Given the description of an element on the screen output the (x, y) to click on. 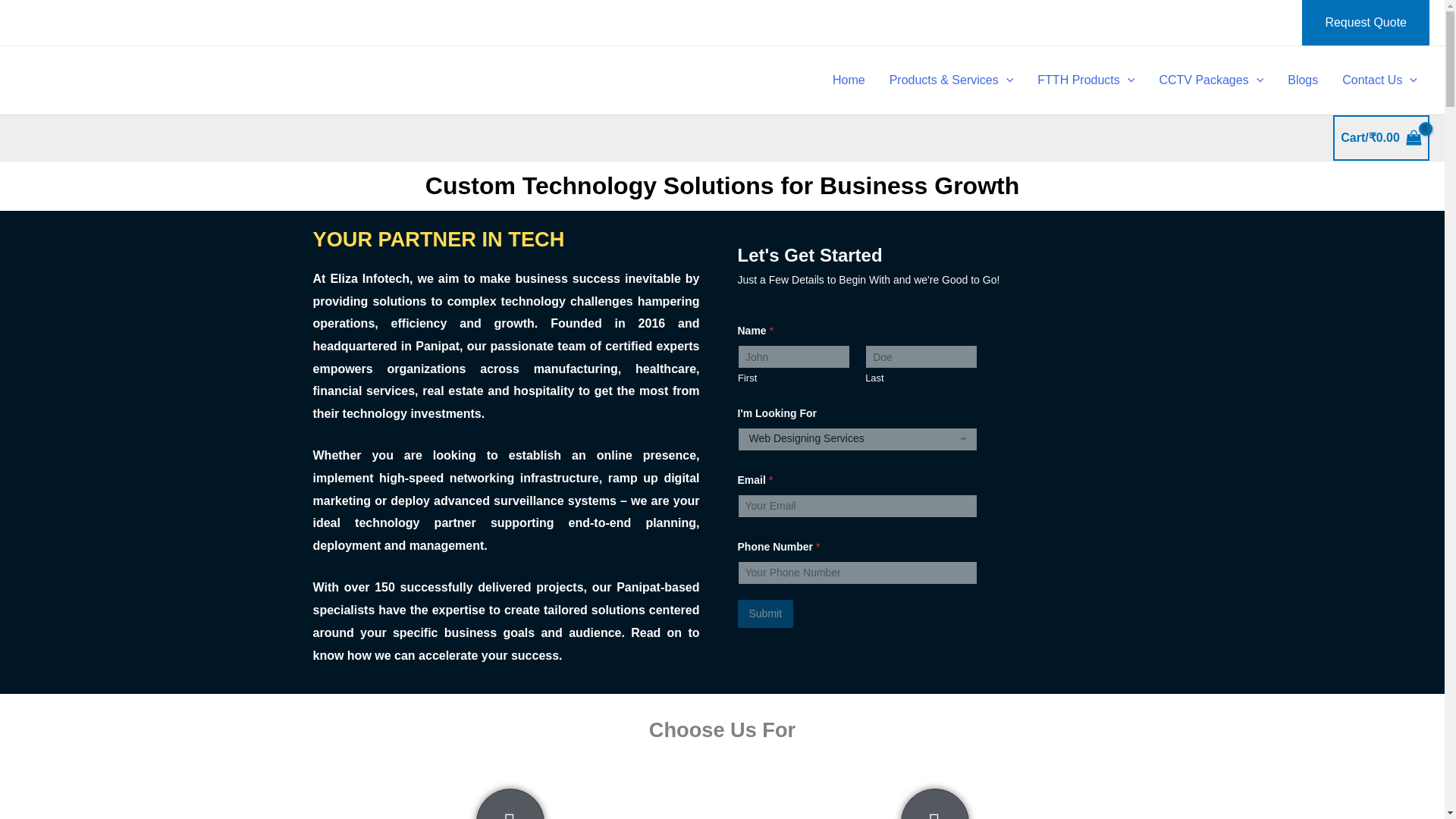
Request Quote (1365, 22)
Home (849, 80)
Blogs (1302, 80)
CCTV Packages (1211, 80)
FTTH Products (1086, 80)
Contact Us (1379, 80)
